Given the description of an element on the screen output the (x, y) to click on. 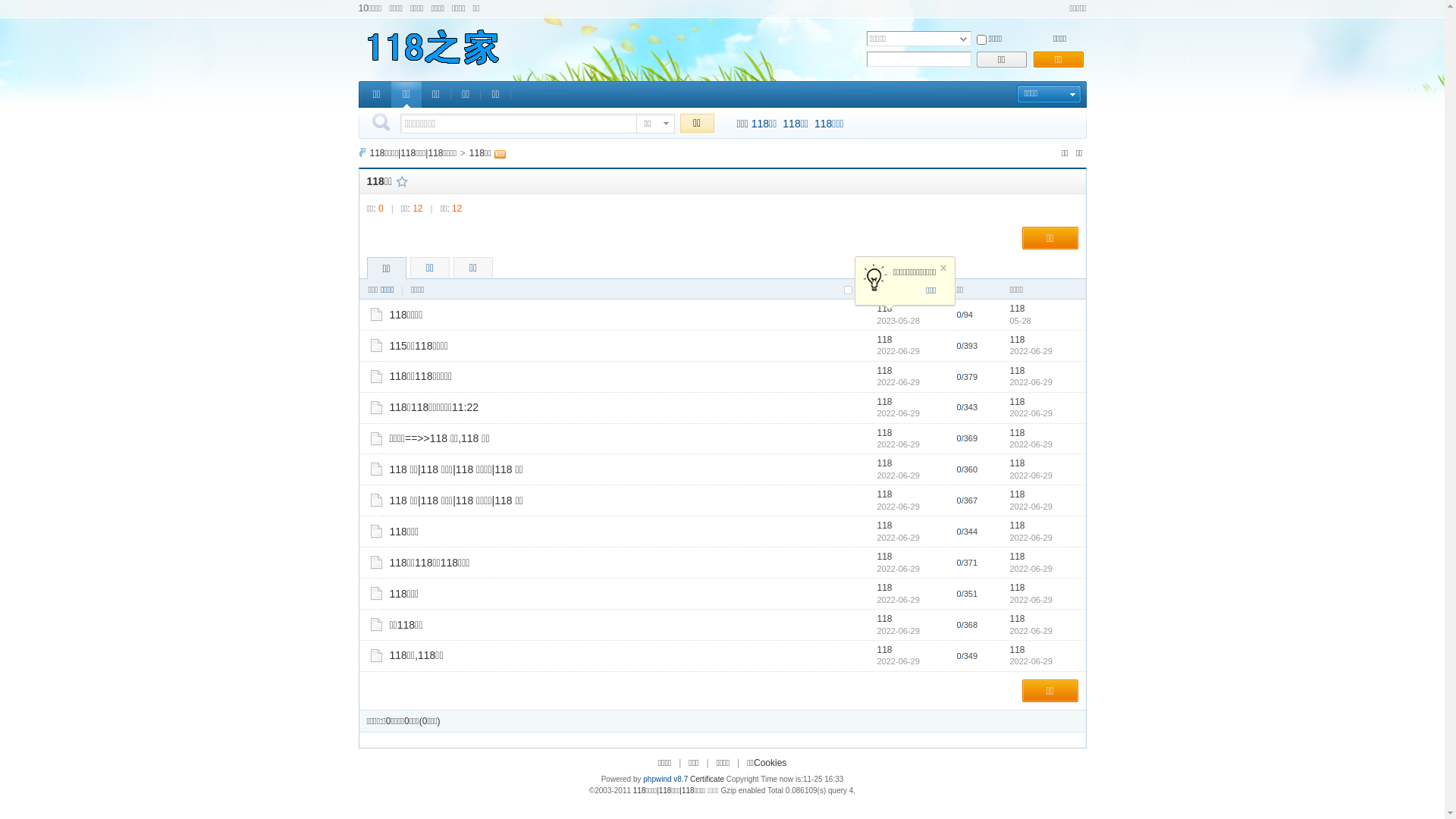
118 Element type: text (883, 556)
118 Element type: text (1017, 308)
118 Element type: text (883, 587)
118 Element type: text (883, 401)
118 Element type: text (883, 370)
05-28 Element type: text (1020, 320)
2022-06-29 Element type: text (1031, 599)
118 Element type: text (883, 649)
118 Element type: text (1017, 525)
118 Element type: text (1017, 618)
118 Element type: text (883, 308)
118 Element type: text (1017, 463)
118 Element type: text (883, 463)
118 Element type: text (883, 339)
118 Element type: text (1017, 649)
118 Element type: text (1017, 494)
2022-06-29 Element type: text (1031, 350)
phpwind v8.7 Element type: text (665, 779)
118 Element type: text (1017, 432)
118 Element type: text (883, 432)
118 Element type: text (1017, 339)
118 Element type: text (883, 525)
Certificate Element type: text (707, 779)
2022-06-29 Element type: text (1031, 568)
2022-06-29 Element type: text (1031, 630)
118 Element type: text (1017, 587)
2022-06-29 Element type: text (1031, 506)
118 Element type: text (883, 494)
2022-06-29 Element type: text (1031, 475)
2022-06-29 Element type: text (1031, 443)
118 Element type: text (883, 618)
2022-06-29 Element type: text (1031, 537)
2022-06-29 Element type: text (1031, 381)
118 Element type: text (1017, 370)
2022-06-29 Element type: text (1031, 412)
2022-06-29 Element type: text (1031, 660)
118 Element type: text (1017, 401)
118 Element type: text (1017, 556)
